Given the description of an element on the screen output the (x, y) to click on. 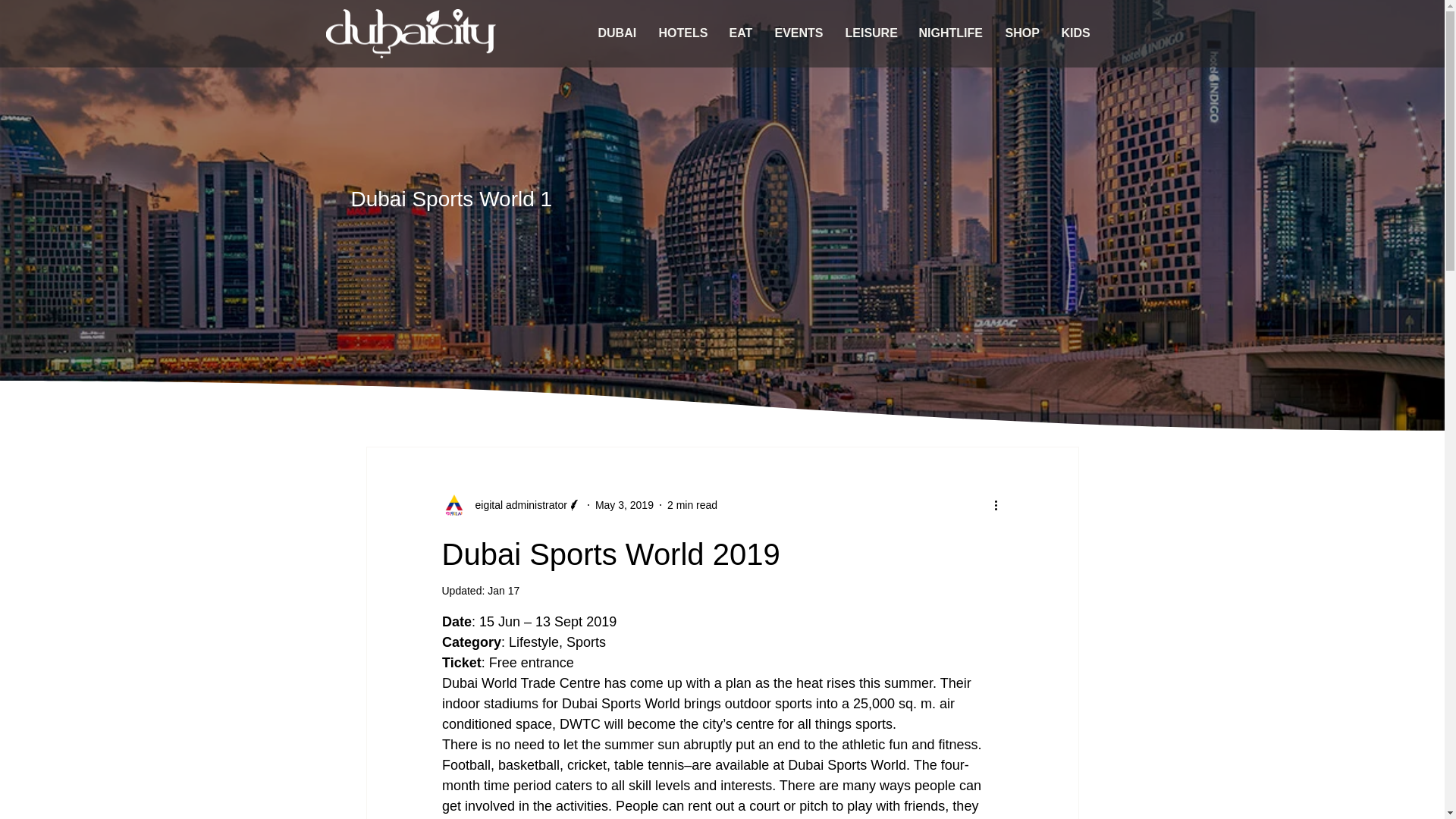
EVENTS (797, 33)
eigital administrator (515, 505)
Jan 17 (503, 590)
NIGHTLIFE (949, 33)
KIDS (1074, 33)
HOTELS (682, 33)
May 3, 2019 (624, 504)
2 min read (691, 504)
LEISURE (870, 33)
DUBAI (616, 33)
SHOP (1020, 33)
eigital administrator (510, 504)
EAT (739, 33)
